Given the description of an element on the screen output the (x, y) to click on. 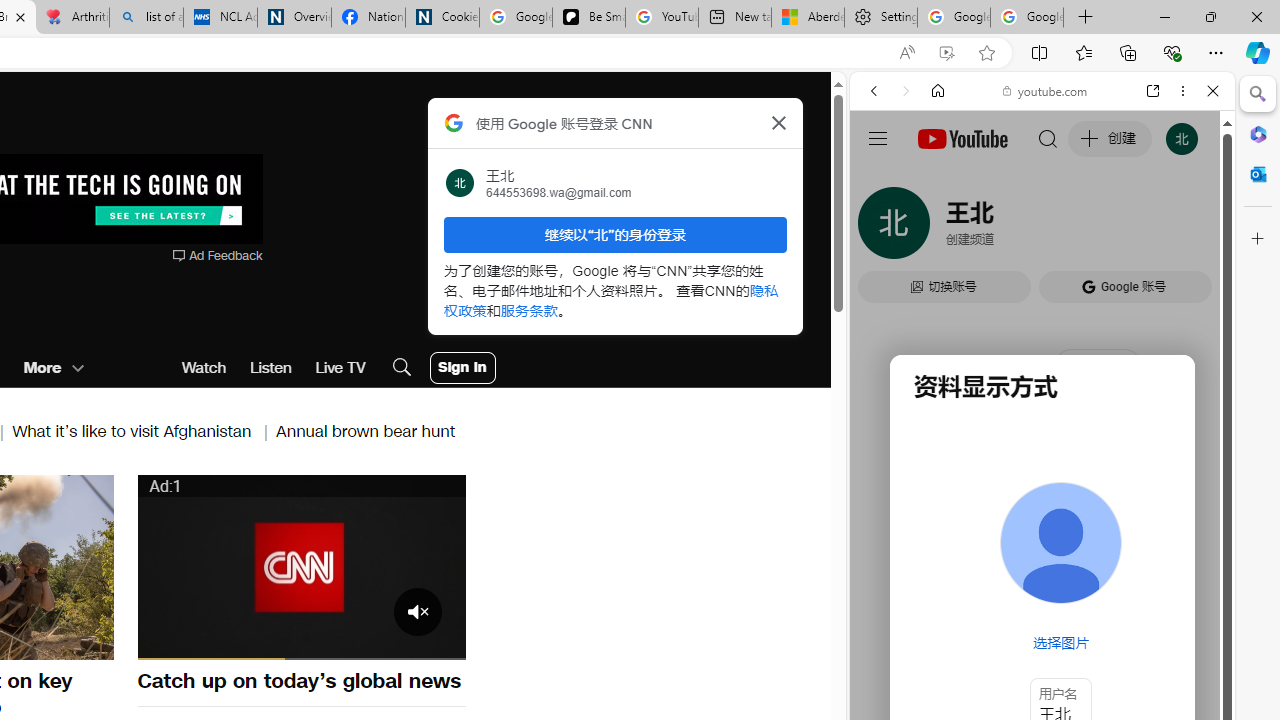
Trailer #2 [HD] (1042, 594)
Google (947, 584)
Preferences (1189, 228)
Trailer #2 [HD] (1042, 592)
Search videos from youtube.com (1005, 657)
NCL Adult Asthma Inhaler Choice Guideline (220, 17)
#you (1042, 445)
Search Filter, VIDEOS (1006, 228)
